Given the description of an element on the screen output the (x, y) to click on. 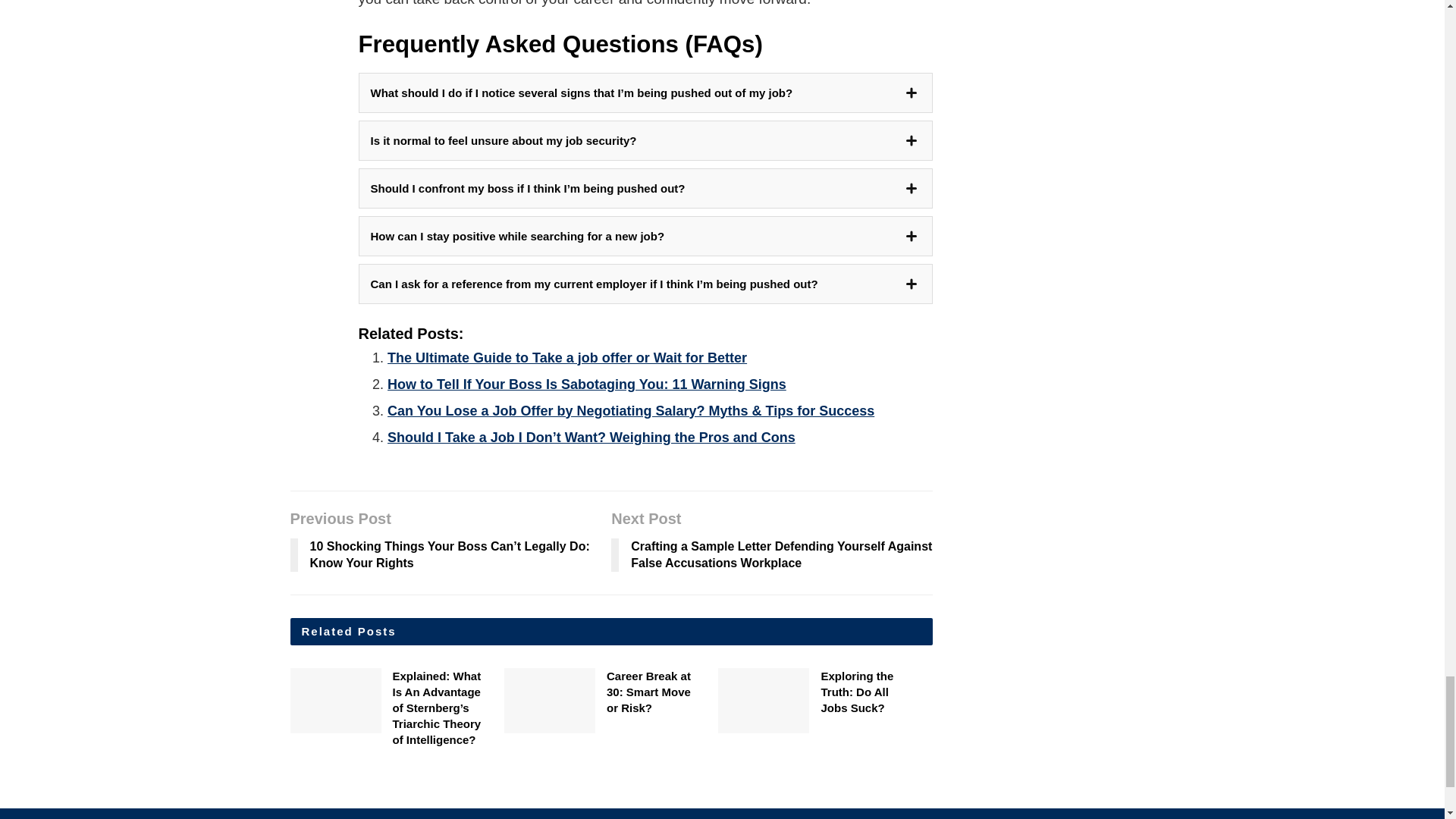
The Ultimate Guide to Take a job offer or Wait for Better (566, 357)
Previous (944, 681)
Next (944, 705)
How to Tell If Your Boss Is Sabotaging You: 11 Warning Signs (586, 384)
